Given the description of an element on the screen output the (x, y) to click on. 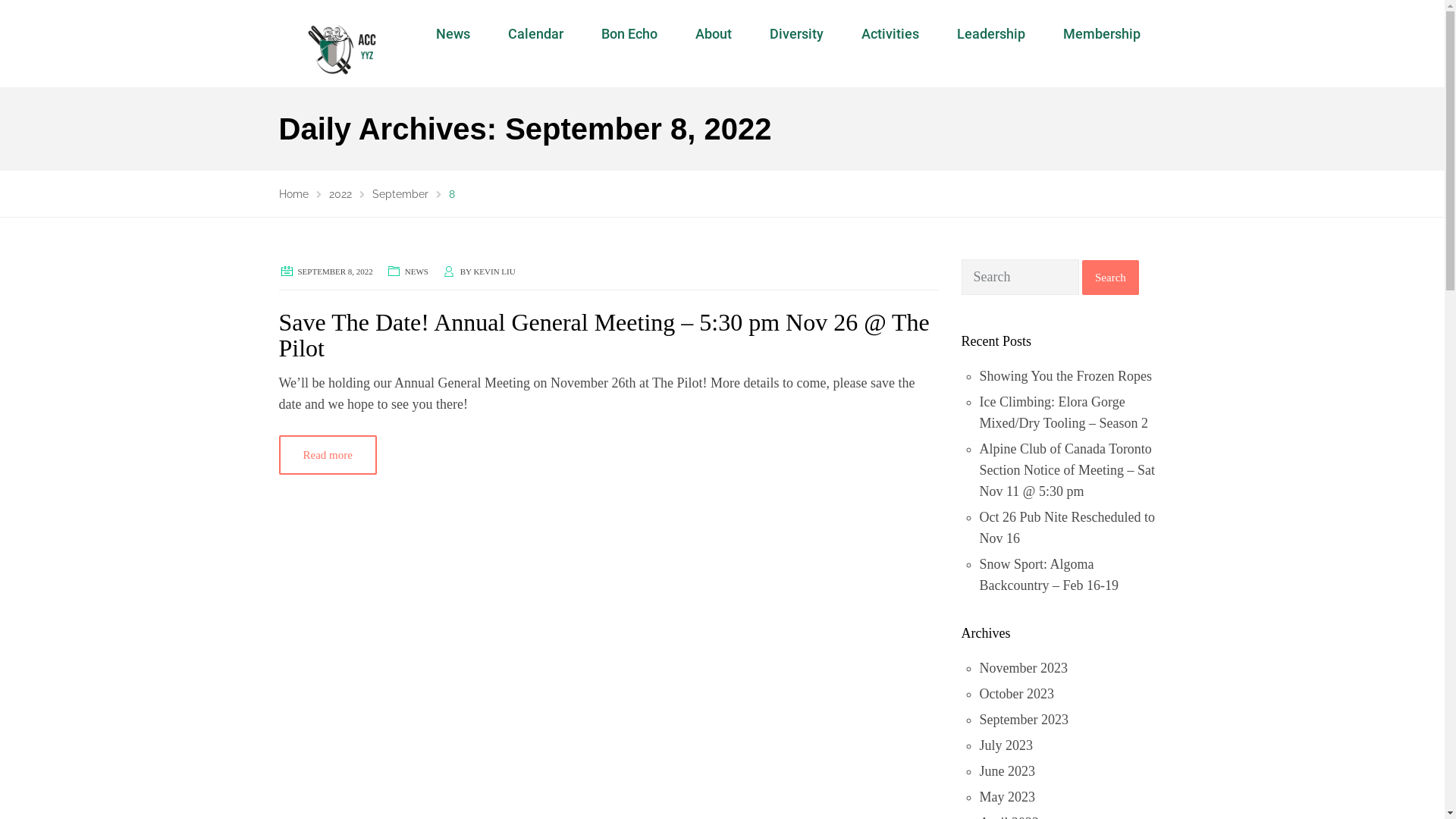
NEWS Element type: text (416, 271)
Read more Element type: text (327, 454)
2022 Element type: text (340, 194)
May 2023 Element type: text (1007, 796)
Calendar Element type: text (535, 33)
Bon Echo Element type: text (629, 33)
KEVIN LIU Element type: text (493, 271)
June 2023 Element type: text (1007, 770)
Oct 26 Pub Nite Rescheduled to Nov 16 Element type: text (1066, 527)
Leadership Element type: text (991, 33)
Activities Element type: text (890, 33)
September 2023 Element type: text (1023, 719)
Search Element type: text (1110, 277)
Membership Element type: text (1101, 33)
Diversity Element type: text (796, 33)
Showing You the Frozen Ropes Element type: text (1065, 375)
October 2023 Element type: text (1016, 693)
News Element type: text (453, 33)
September Element type: text (399, 194)
July 2023 Element type: text (1006, 745)
SEPTEMBER 8, 2022 Element type: text (334, 271)
November 2023 Element type: text (1023, 667)
Home Element type: text (293, 194)
About Element type: text (713, 33)
